Given the description of an element on the screen output the (x, y) to click on. 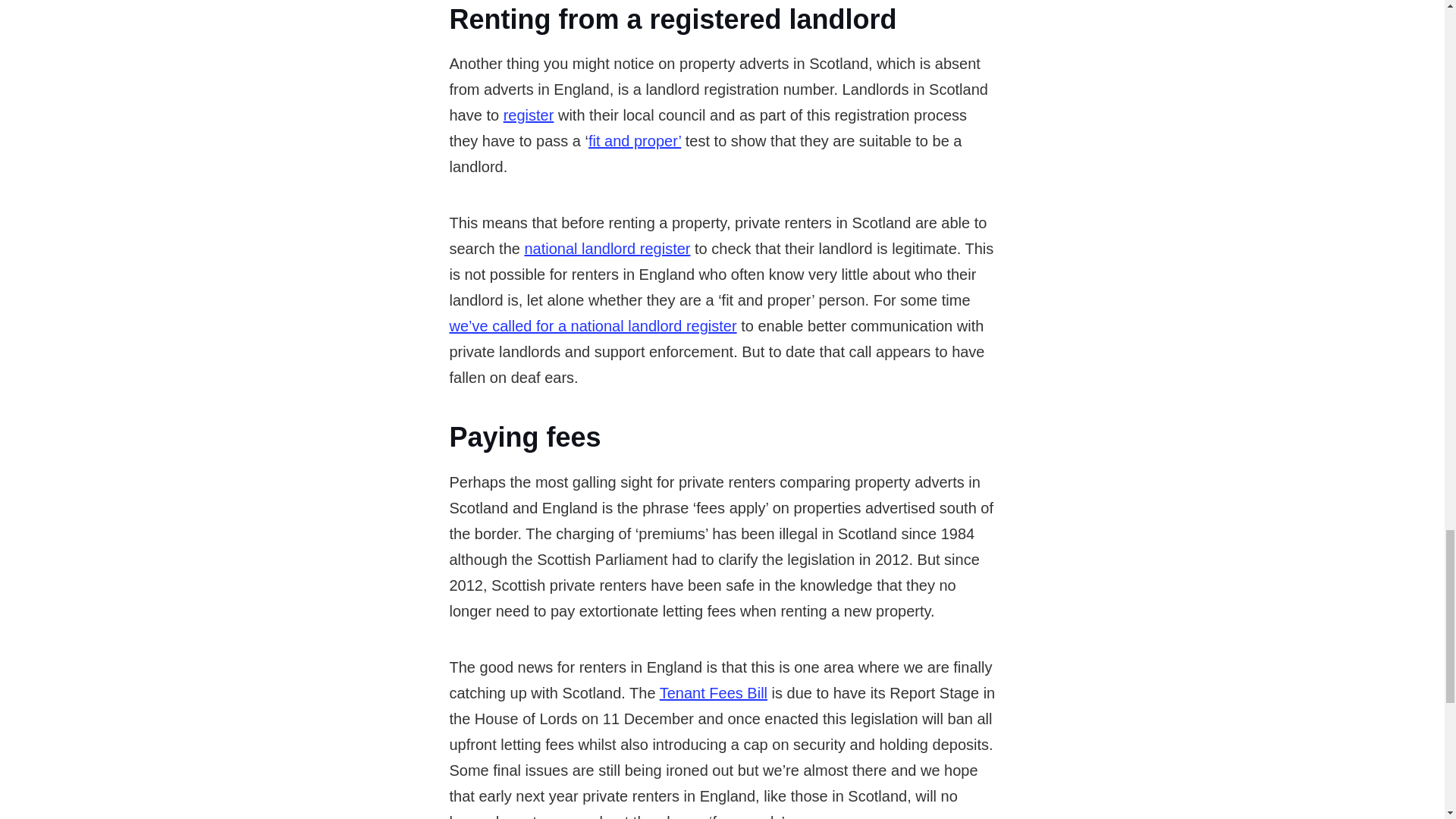
national landlord register (607, 248)
Tenant Fees Bill (713, 692)
register (528, 115)
